Given the description of an element on the screen output the (x, y) to click on. 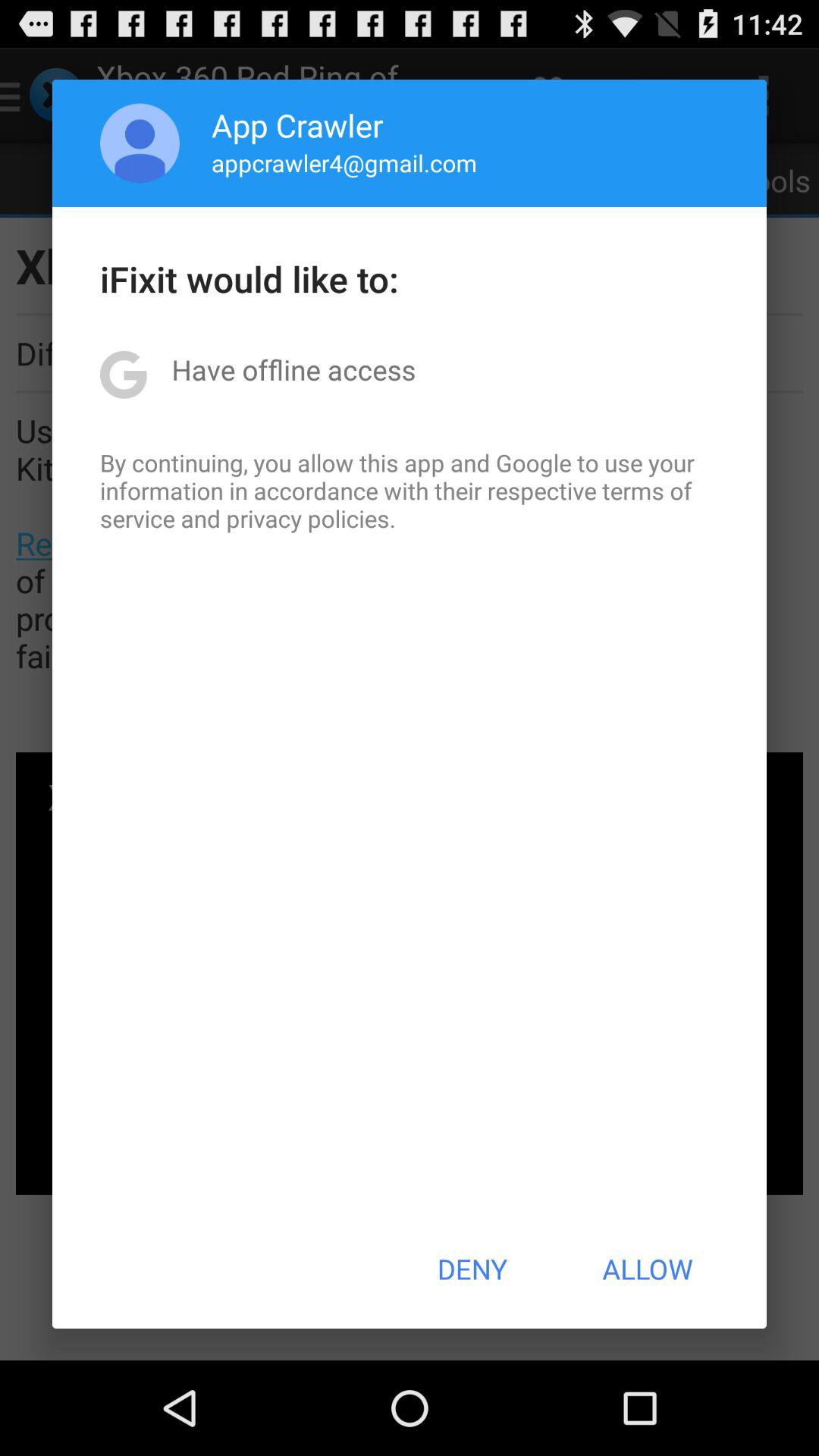
launch the item below the by continuing you app (471, 1268)
